Given the description of an element on the screen output the (x, y) to click on. 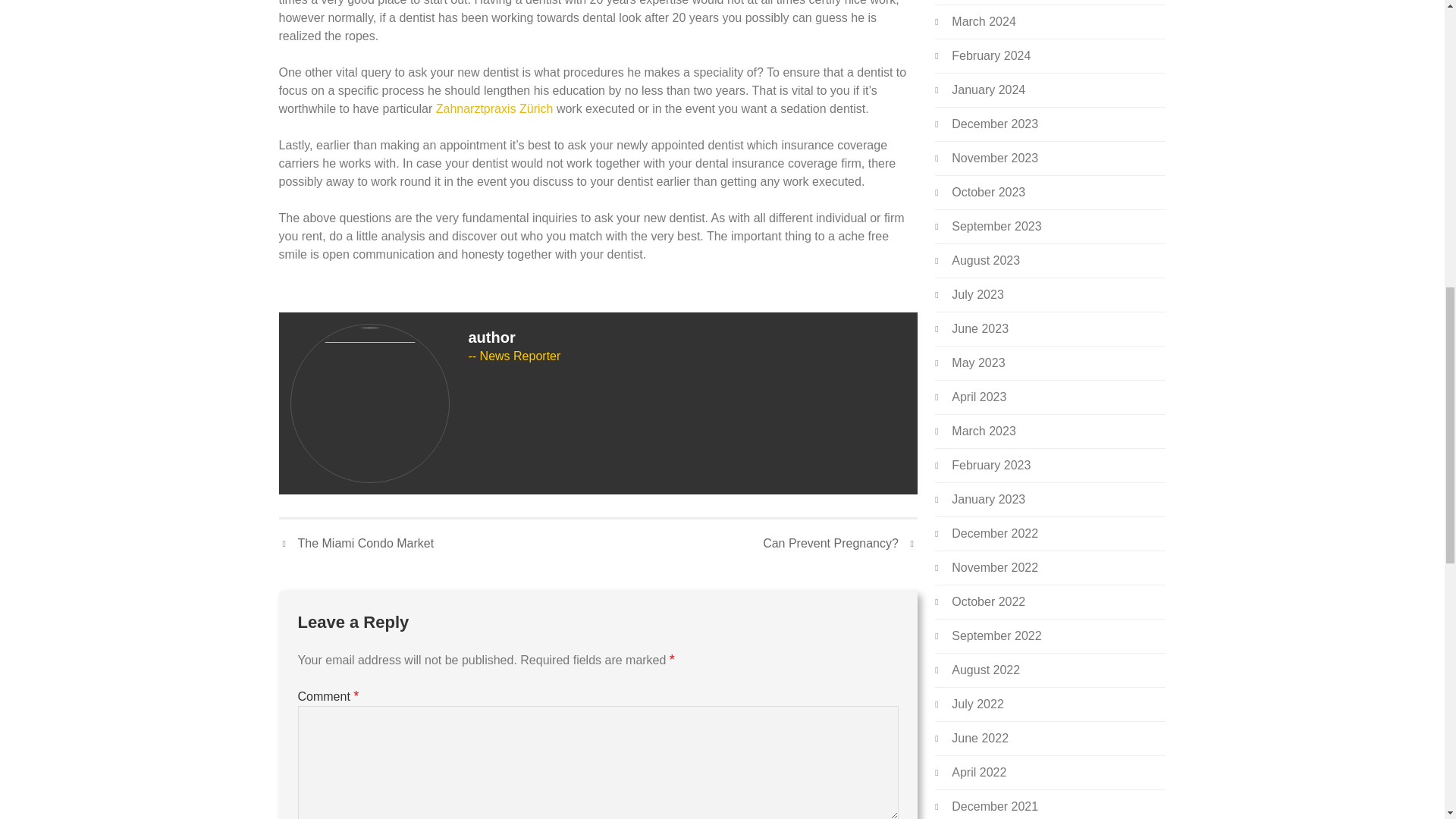
author (491, 337)
Can Prevent Pregnancy? (839, 543)
The Miami Condo Market (356, 543)
Posts by author (491, 337)
